Given the description of an element on the screen output the (x, y) to click on. 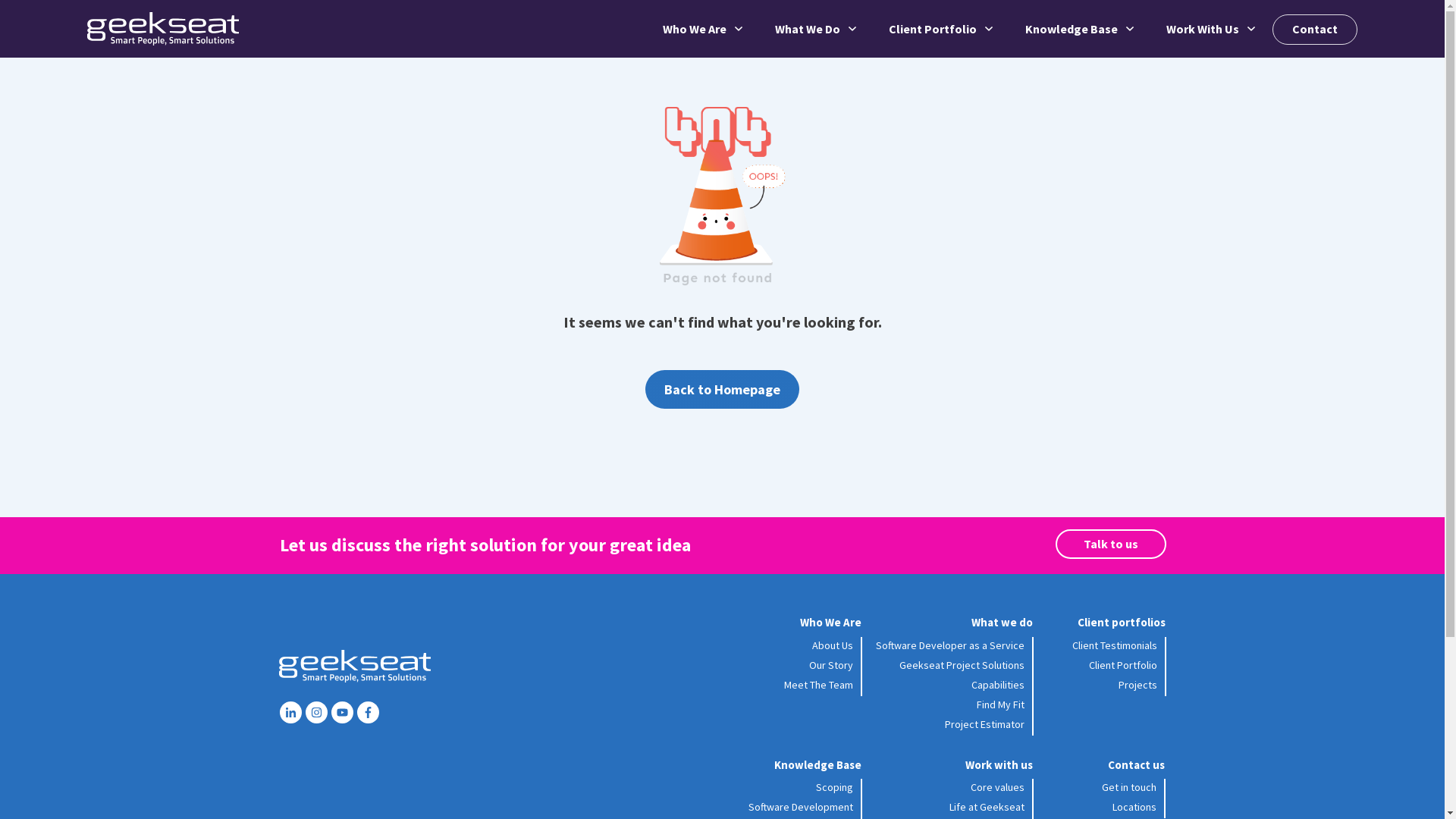
Geekseat Project Solutions Element type: text (961, 664)
Who We Are Element type: text (703, 28)
Knowledge Base Element type: text (1080, 28)
Client Portfolio Element type: text (1122, 664)
What We Do Element type: text (816, 28)
Get in touch Element type: text (1128, 786)
404 img alpha-8 (1) Element type: hover (722, 190)
Scoping Element type: text (834, 786)
Software Developer as a Service Element type: text (949, 644)
About Us Element type: text (832, 644)
Software Development Element type: text (800, 806)
Contact Element type: text (1314, 28)
Talk to us Element type: text (1110, 543)
Core values Element type: text (997, 786)
Capabilities Element type: text (997, 684)
Client Testimonials Element type: text (1114, 644)
Find My Fit Element type: text (1000, 704)
Client Portfolio Element type: text (941, 28)
Projects Element type: text (1136, 684)
Back to Homepage Element type: text (722, 389)
Life at Geekseat Element type: text (986, 806)
Work With Us Element type: text (1211, 28)
Meet The Team Element type: text (818, 684)
Locations Element type: text (1134, 806)
Project Estimator Element type: text (984, 723)
Our Story Element type: text (831, 664)
